Given the description of an element on the screen output the (x, y) to click on. 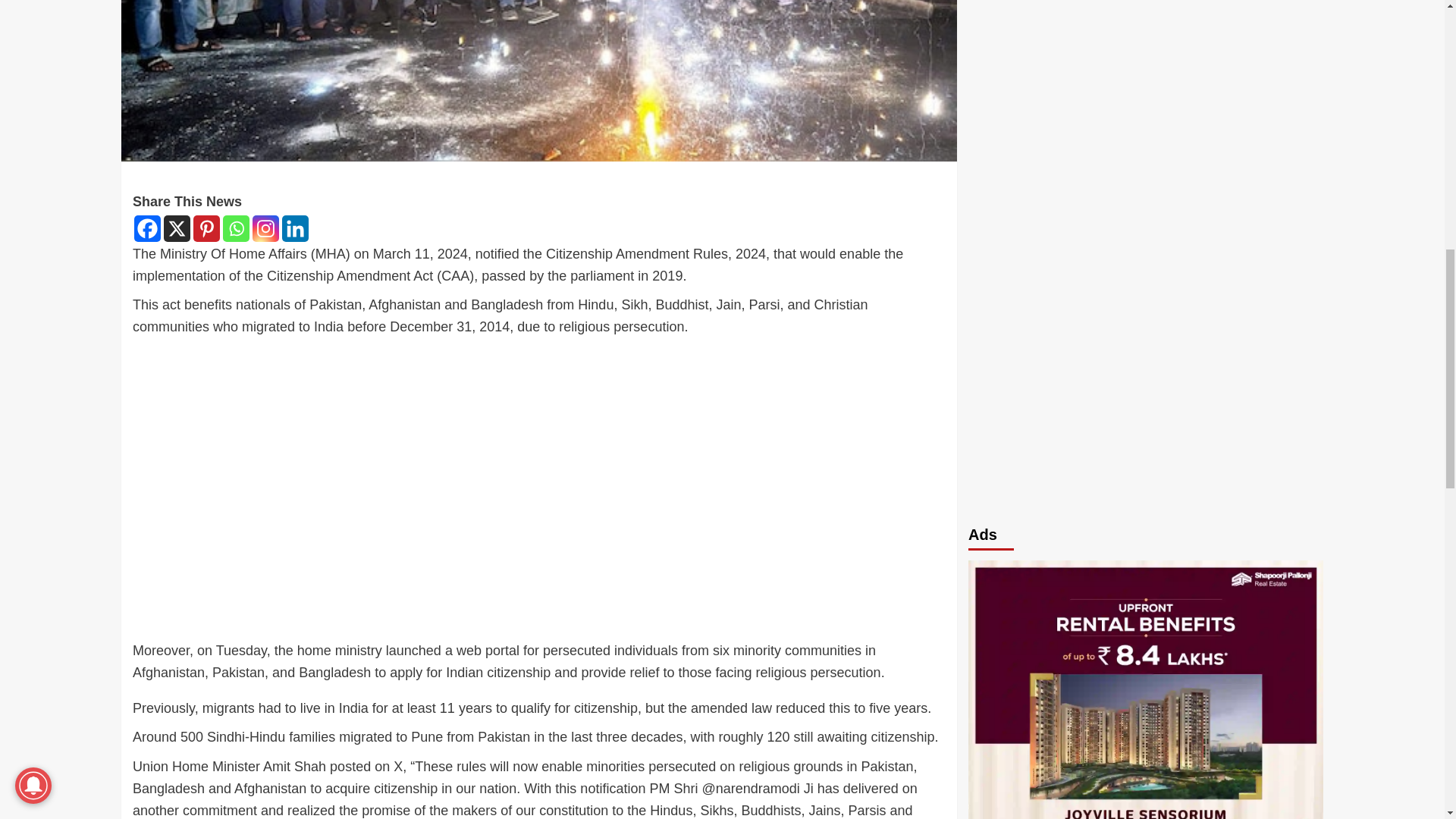
Instagram (265, 228)
Pinterest (206, 228)
Facebook (146, 228)
Linkedin (295, 228)
Whatsapp (235, 228)
X (176, 228)
